Given the description of an element on the screen output the (x, y) to click on. 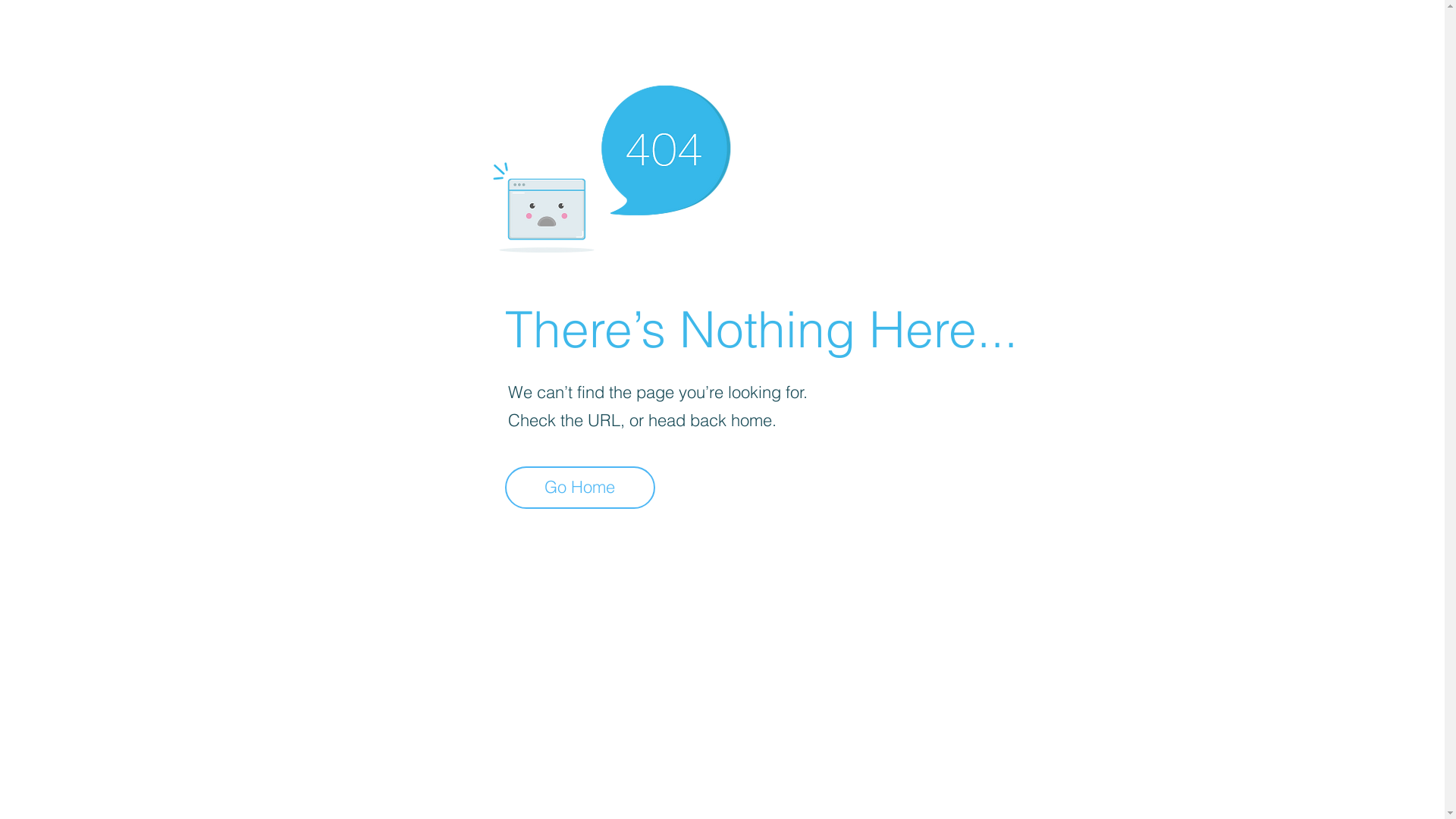
Go Home Element type: text (580, 487)
404-icon_2.png Element type: hover (610, 164)
